Given the description of an element on the screen output the (x, y) to click on. 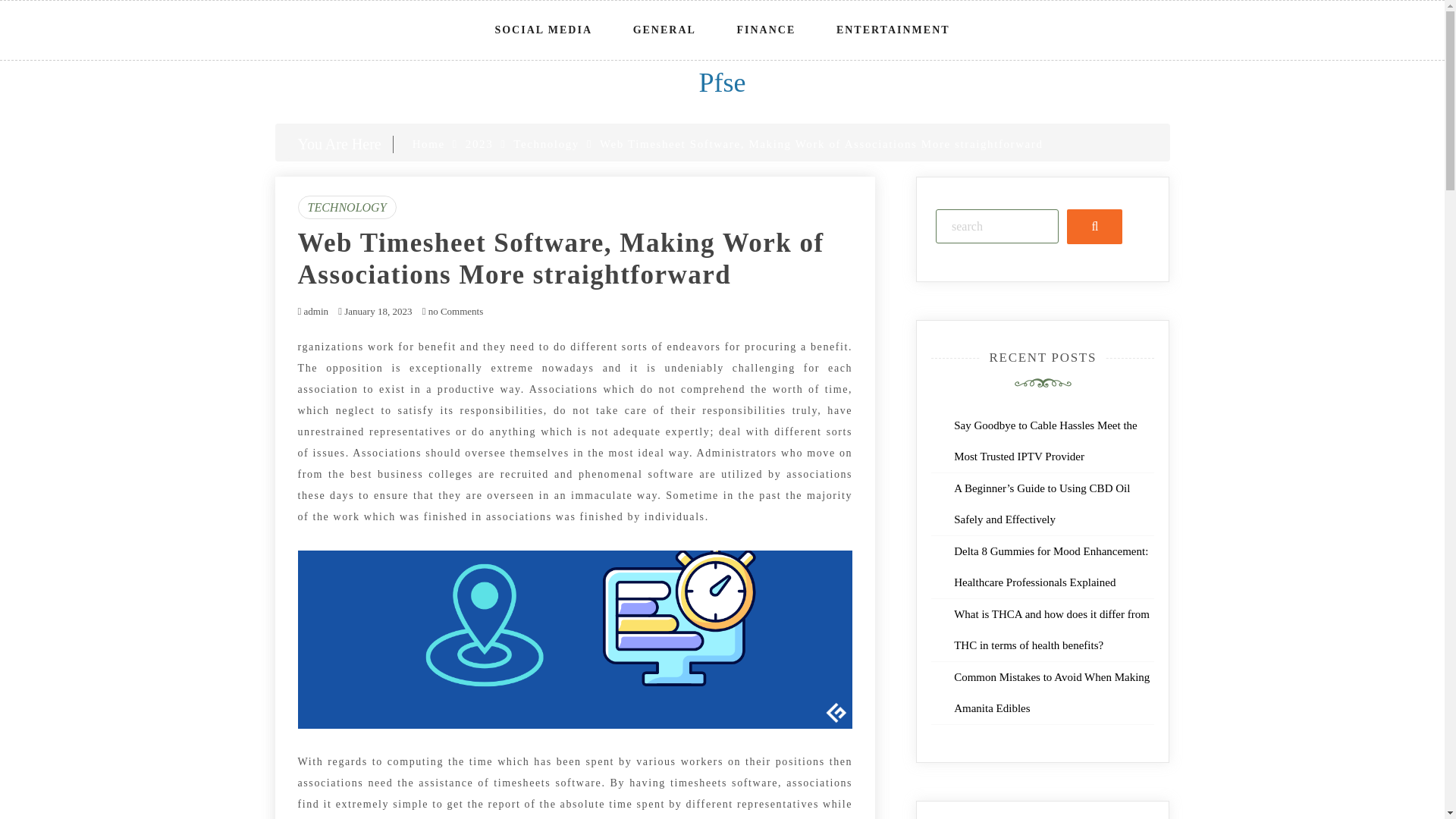
Home (428, 143)
admin (315, 310)
Posts by admin (315, 310)
Technology (546, 143)
Common Mistakes to Avoid When Making Amanita Edibles (1051, 692)
SOCIAL MEDIA (543, 29)
GENERAL (664, 29)
